Given the description of an element on the screen output the (x, y) to click on. 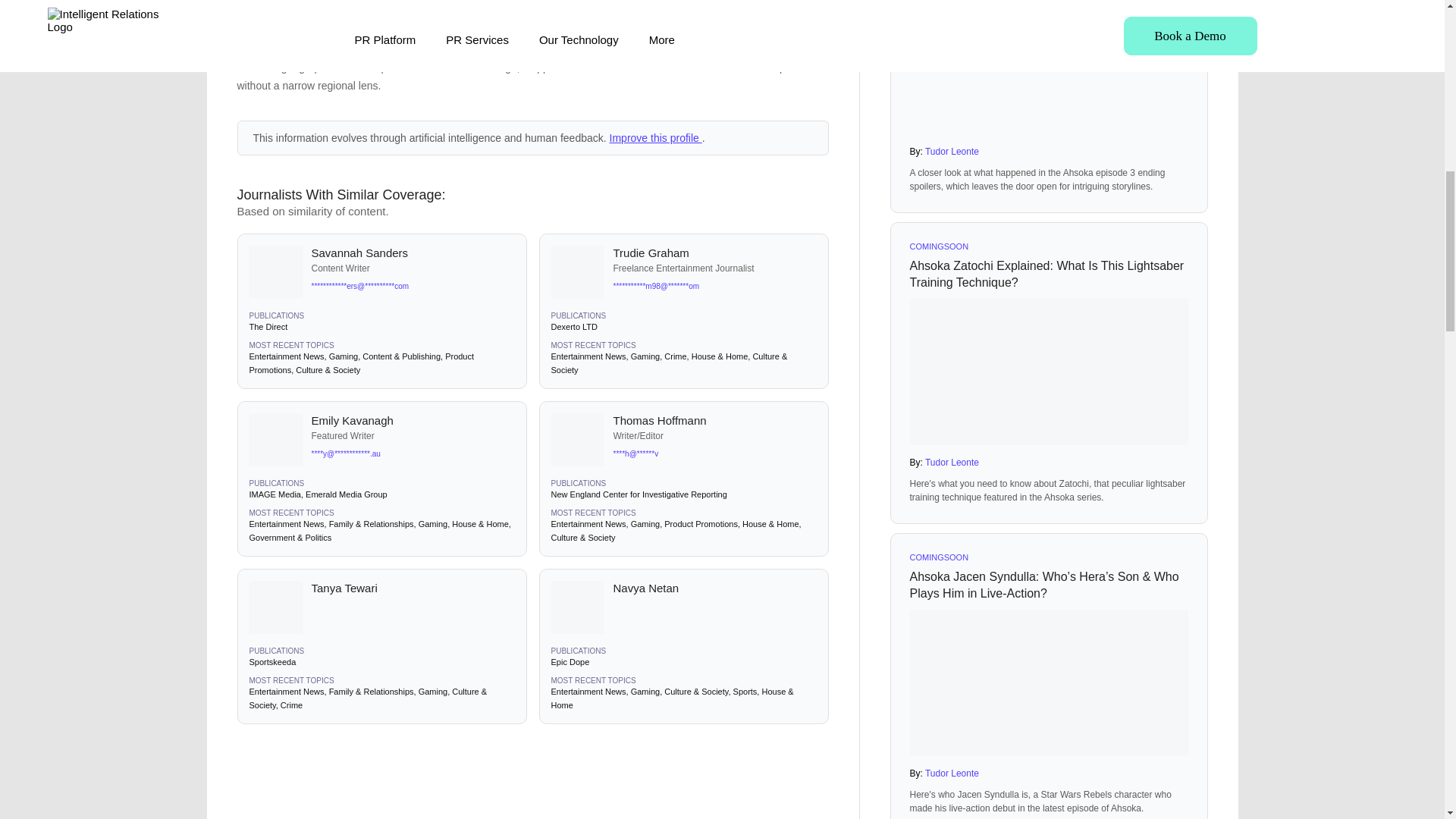
IMAGE Media (273, 493)
Improve this profile (655, 137)
Emerald Media Group (346, 493)
Emily Kavanagh (412, 420)
The Direct (267, 326)
Dexerto LTD (573, 326)
Trudie Graham (713, 252)
Savannah Sanders (412, 252)
New England Center for Investigative Reporting (638, 493)
Thomas Hoffmann (713, 420)
